Given the description of an element on the screen output the (x, y) to click on. 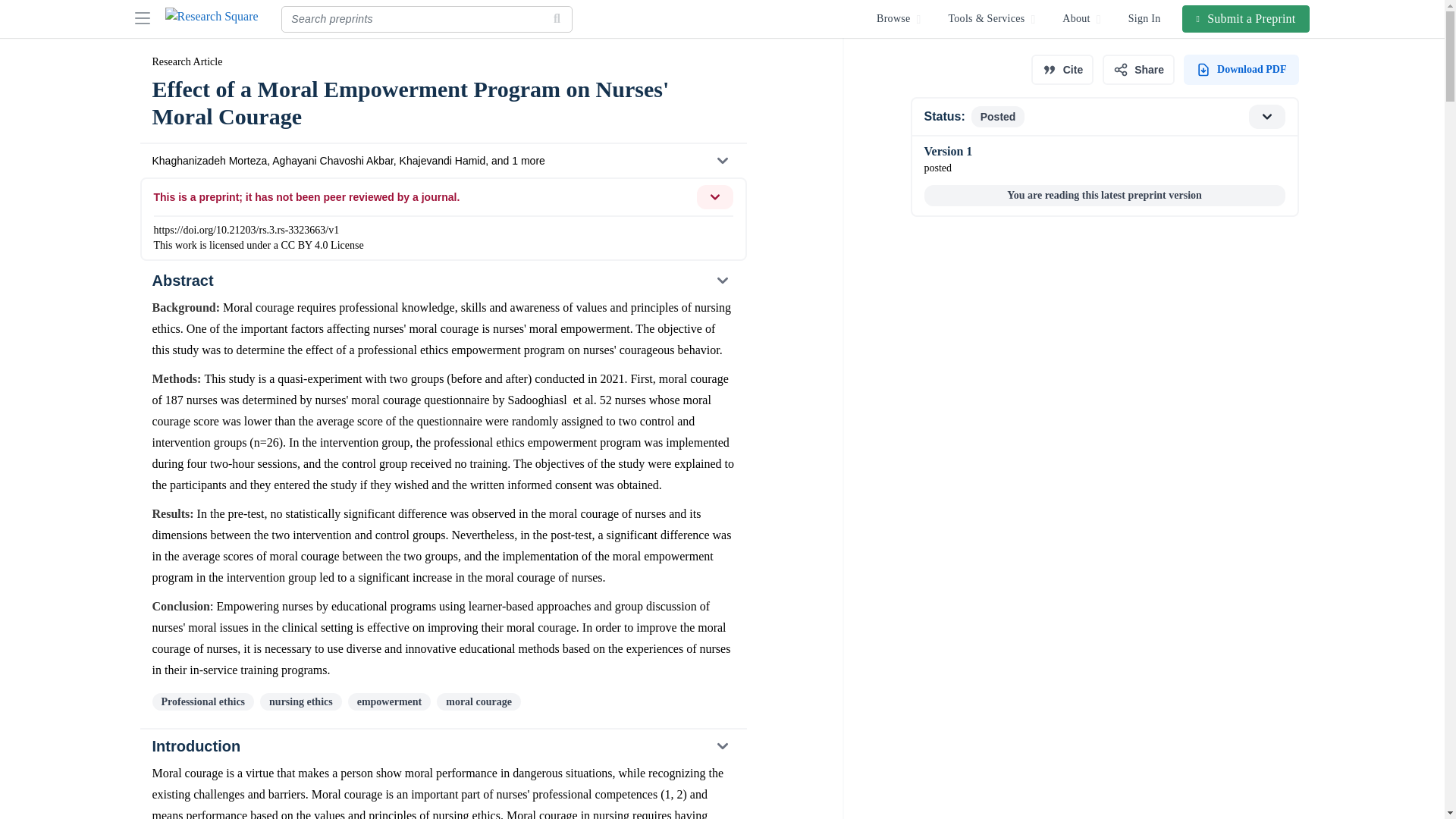
PDF (1240, 69)
Sign In (1103, 116)
Submit a Preprint (1144, 18)
Abstract (1246, 18)
Cite (442, 280)
Introduction (1061, 69)
Share (442, 745)
